Given the description of an element on the screen output the (x, y) to click on. 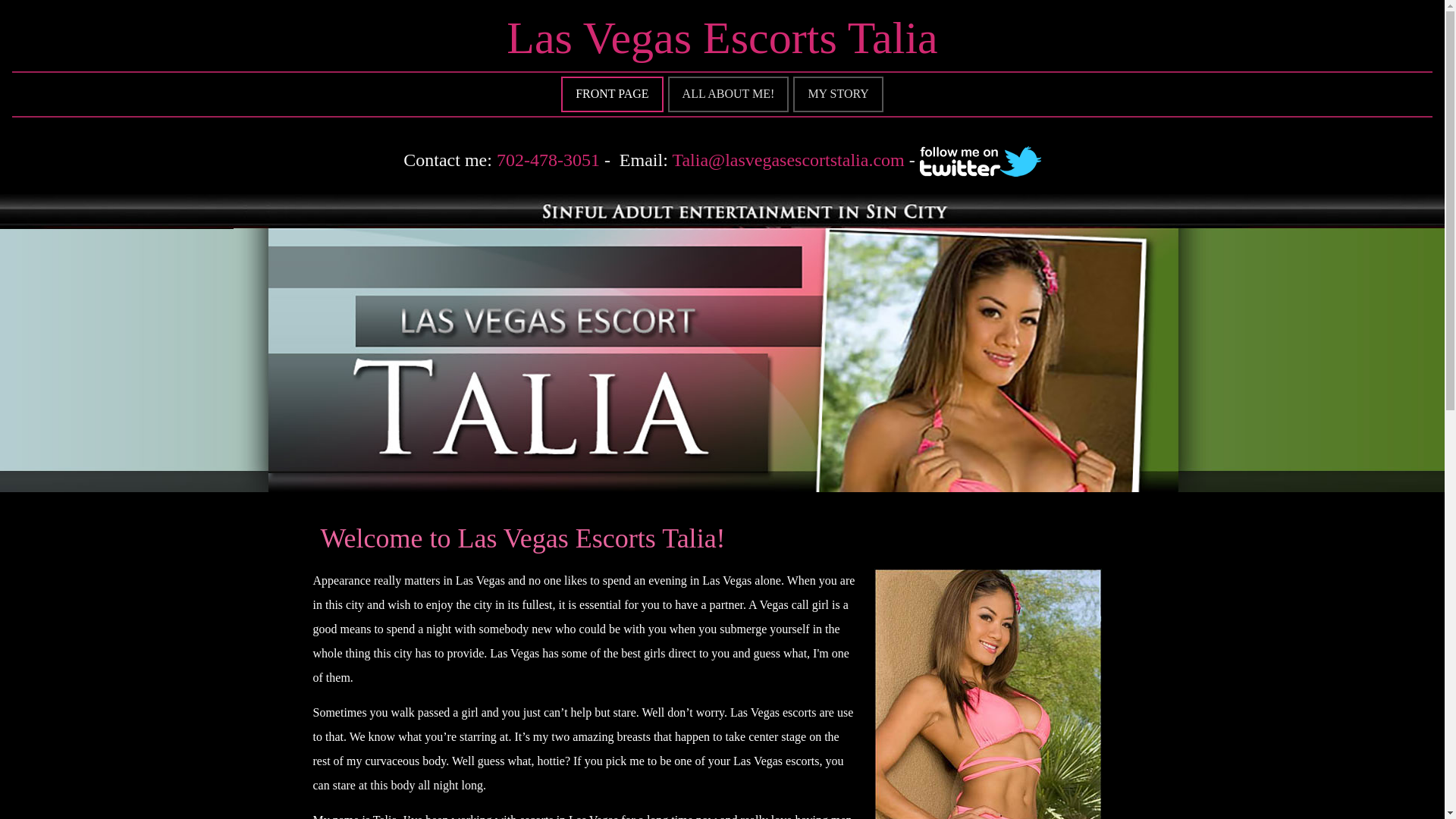
702-478-3051 (547, 159)
Las Vegas Escorts Talia (721, 38)
FRONT PAGE (611, 94)
ALL ABOUT ME! (728, 94)
Welcome to Las Vegas Escorts Talia! (522, 538)
MY STORY (837, 94)
